Given the description of an element on the screen output the (x, y) to click on. 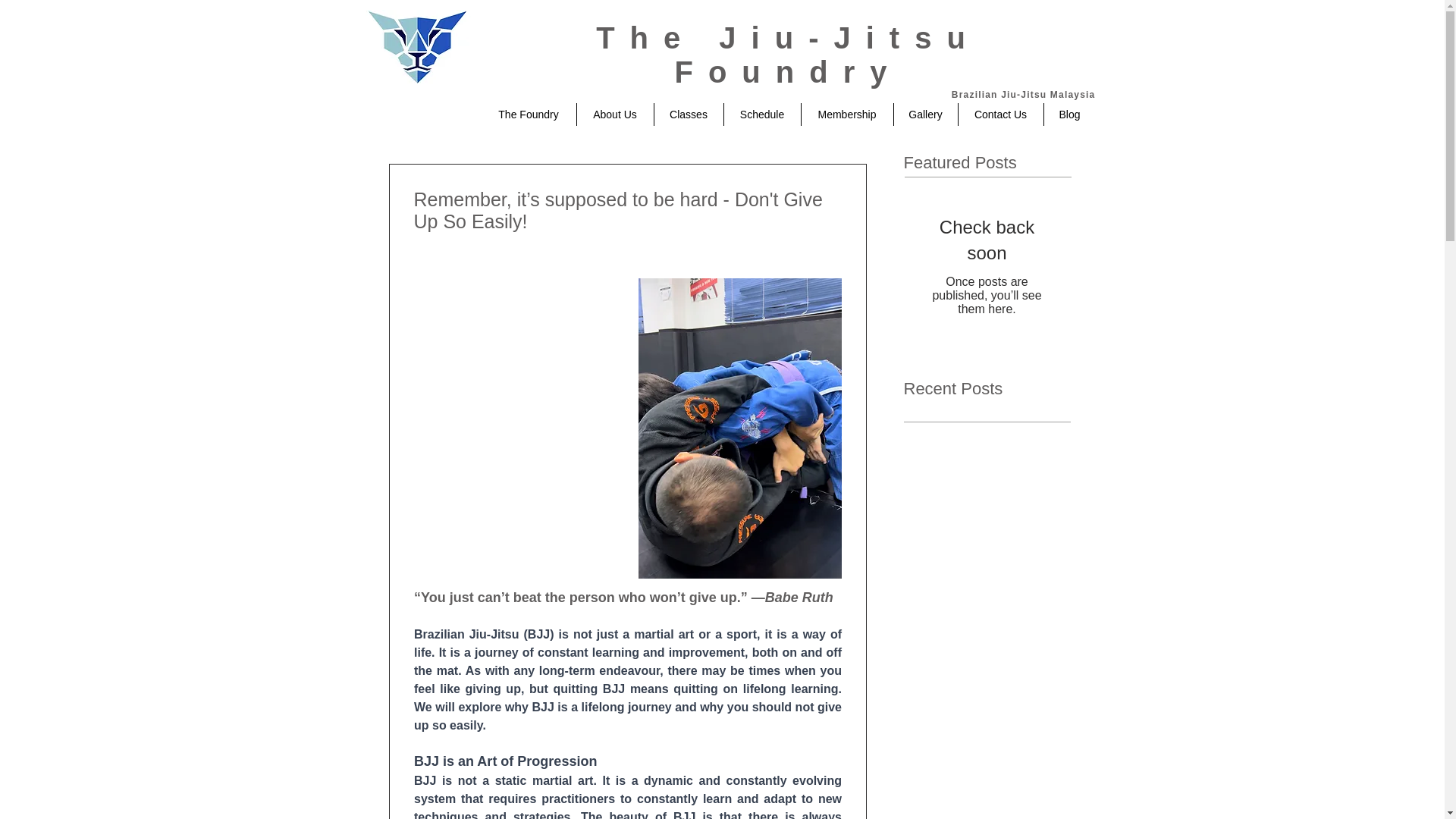
Gallery (924, 114)
Contact Us (1000, 114)
About Us (614, 114)
The Foundry (527, 114)
Membership (846, 114)
Blog (1068, 114)
Classes (687, 114)
Schedule (761, 114)
